Given the description of an element on the screen output the (x, y) to click on. 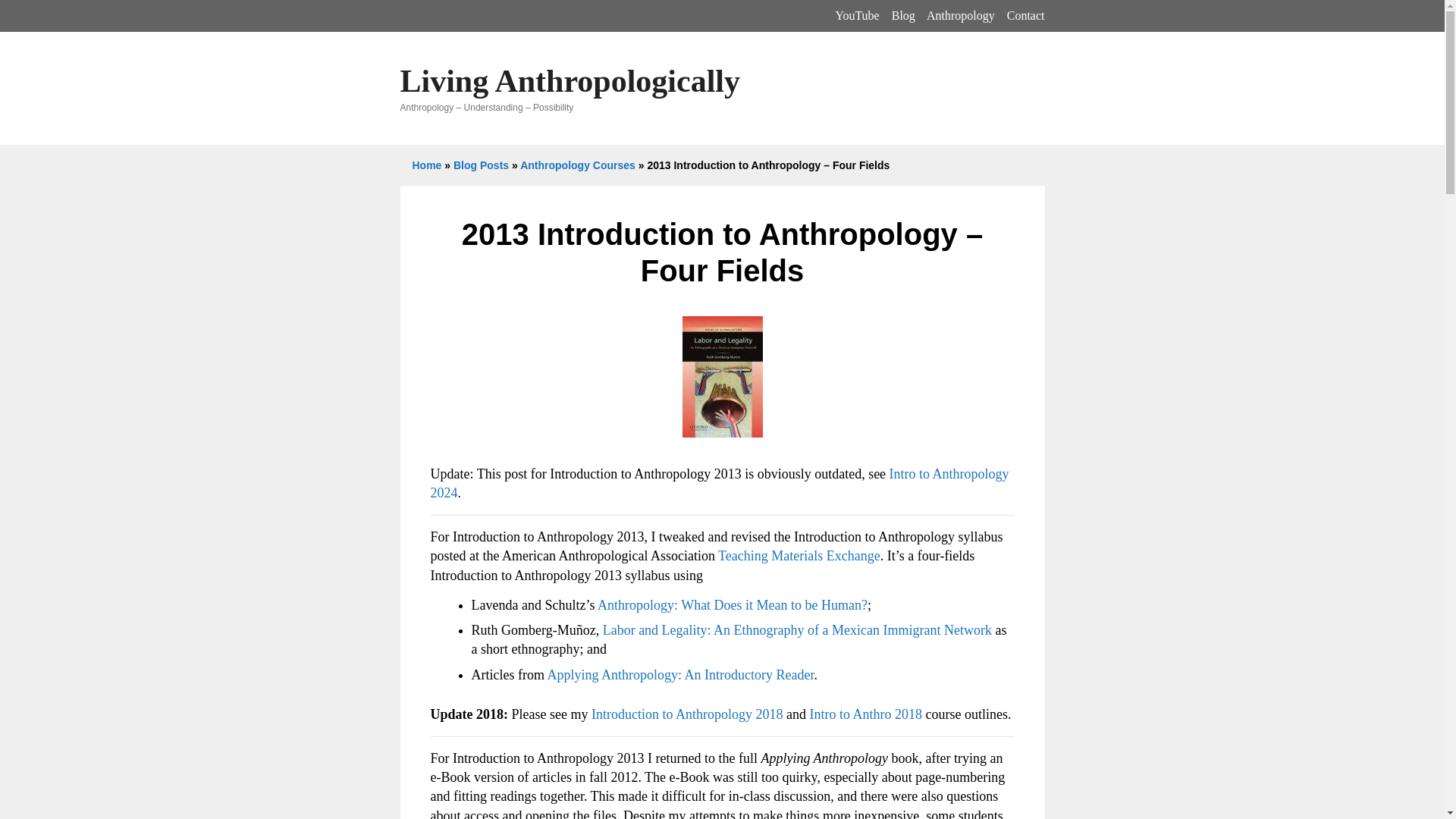
Introduction to Anthropology 2018 (687, 713)
Contact (1026, 15)
Intro to Anthro 2018 (865, 713)
YouTube (856, 15)
Home (427, 164)
Anthropology: What Does it Mean to be Human? (731, 604)
Anthropology Courses (576, 164)
Living Anthropologically (570, 80)
Teaching Materials Exchange (798, 555)
Intro to Anthropology 2024 (719, 483)
Blog Posts (480, 164)
Anthropology (960, 15)
Applying Anthropology: An Introductory Reader (680, 674)
